Given the description of an element on the screen output the (x, y) to click on. 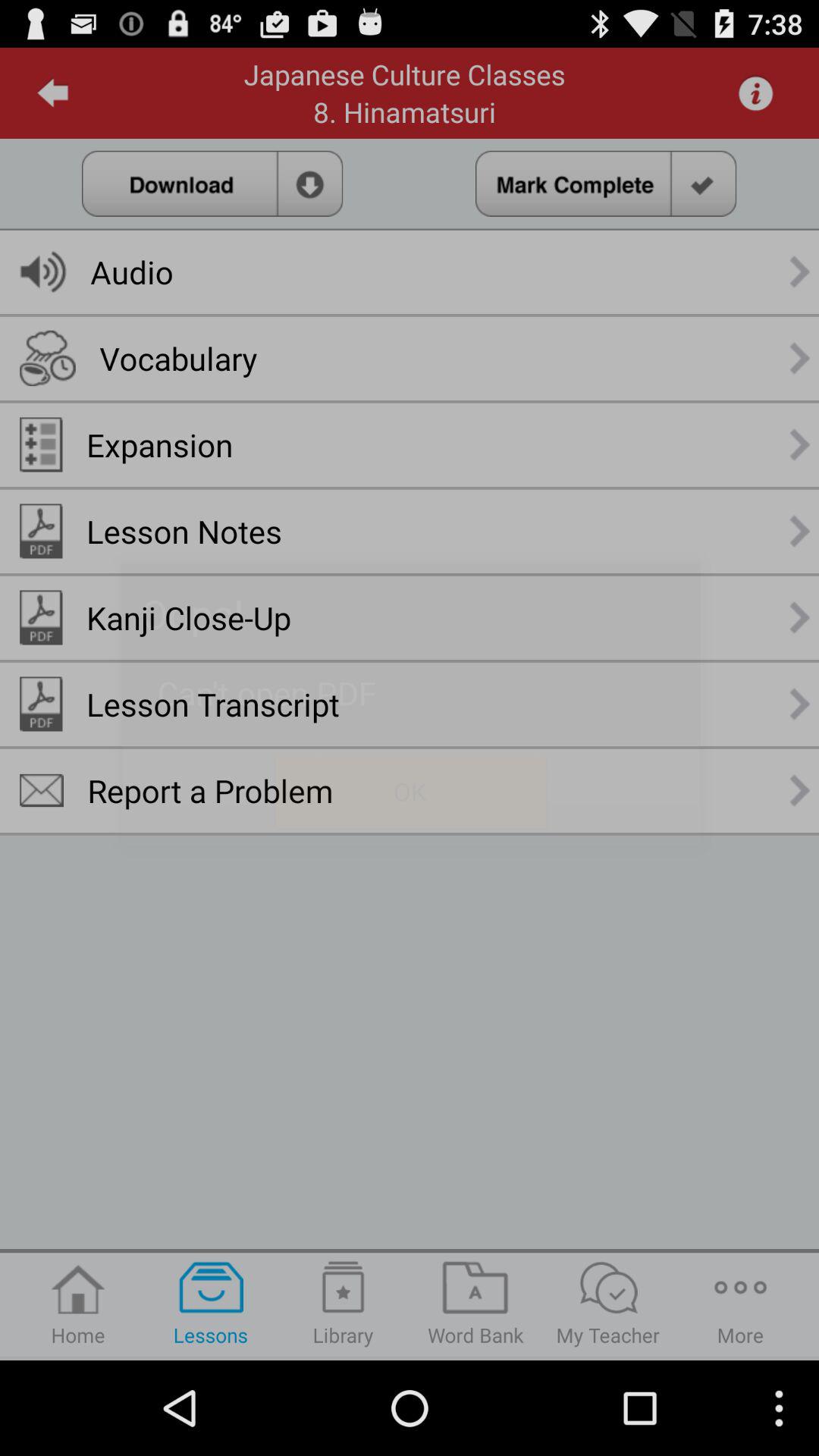
press the icon to the right of the japanese culture classes item (755, 93)
